Given the description of an element on the screen output the (x, y) to click on. 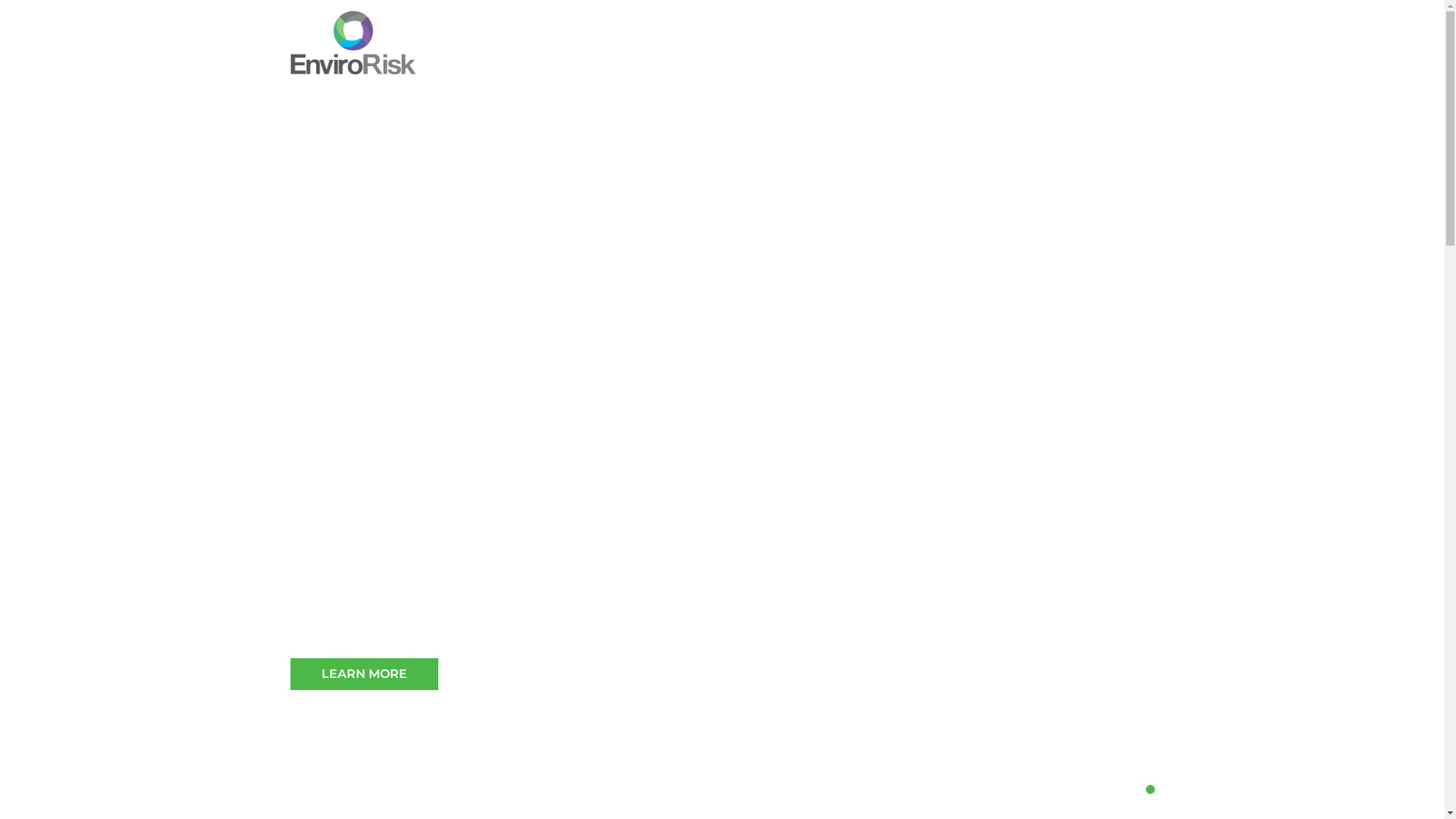
ABOUT US Element type: text (707, 61)
CONTACT US Element type: text (1113, 61)
DOWNLOADS Element type: text (1016, 61)
OUR SERVICES Element type: text (806, 61)
LEARN MORE Element type: text (363, 674)
CASE STUDIES Element type: text (916, 61)
+61 3 5282 3773 Element type: text (1033, 25)
HOME Element type: text (641, 61)
